Given the description of an element on the screen output the (x, y) to click on. 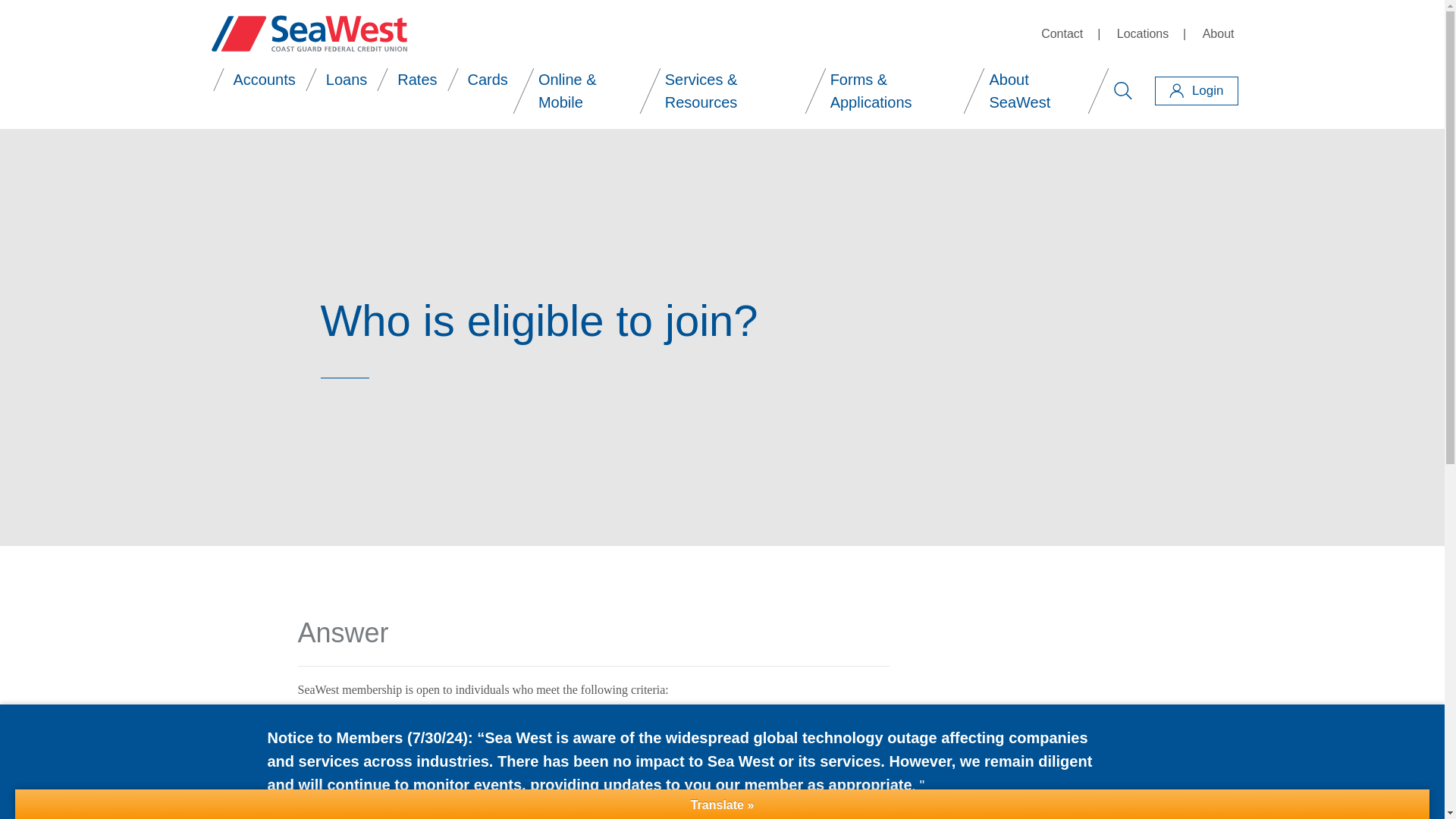
About (1218, 33)
Contact (1061, 33)
Locations (1143, 33)
Accounts (264, 78)
Loans (346, 78)
Cards (487, 78)
About SeaWest (1035, 90)
Rates (416, 78)
